Given the description of an element on the screen output the (x, y) to click on. 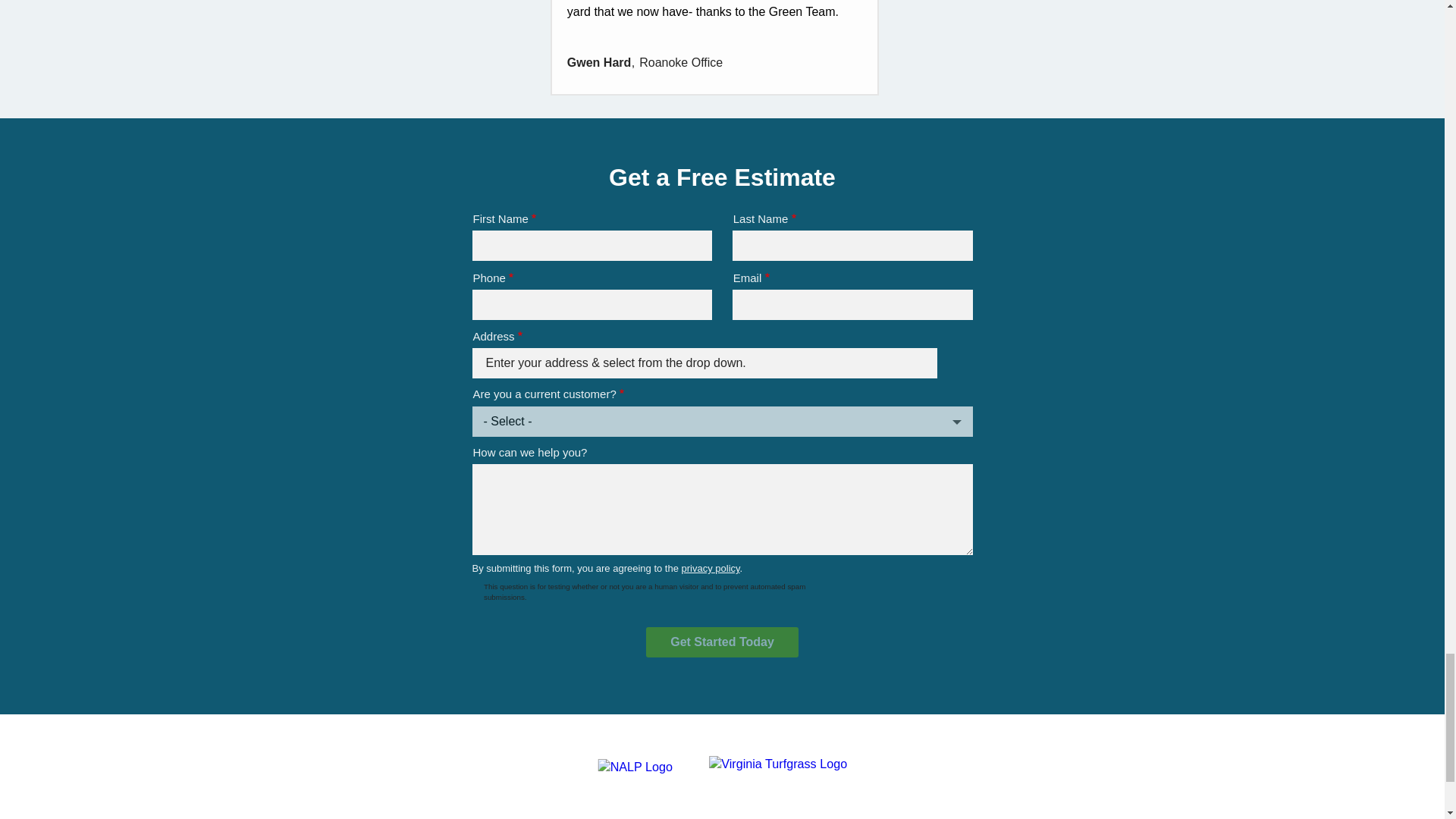
Get Started Today (721, 642)
